Given the description of an element on the screen output the (x, y) to click on. 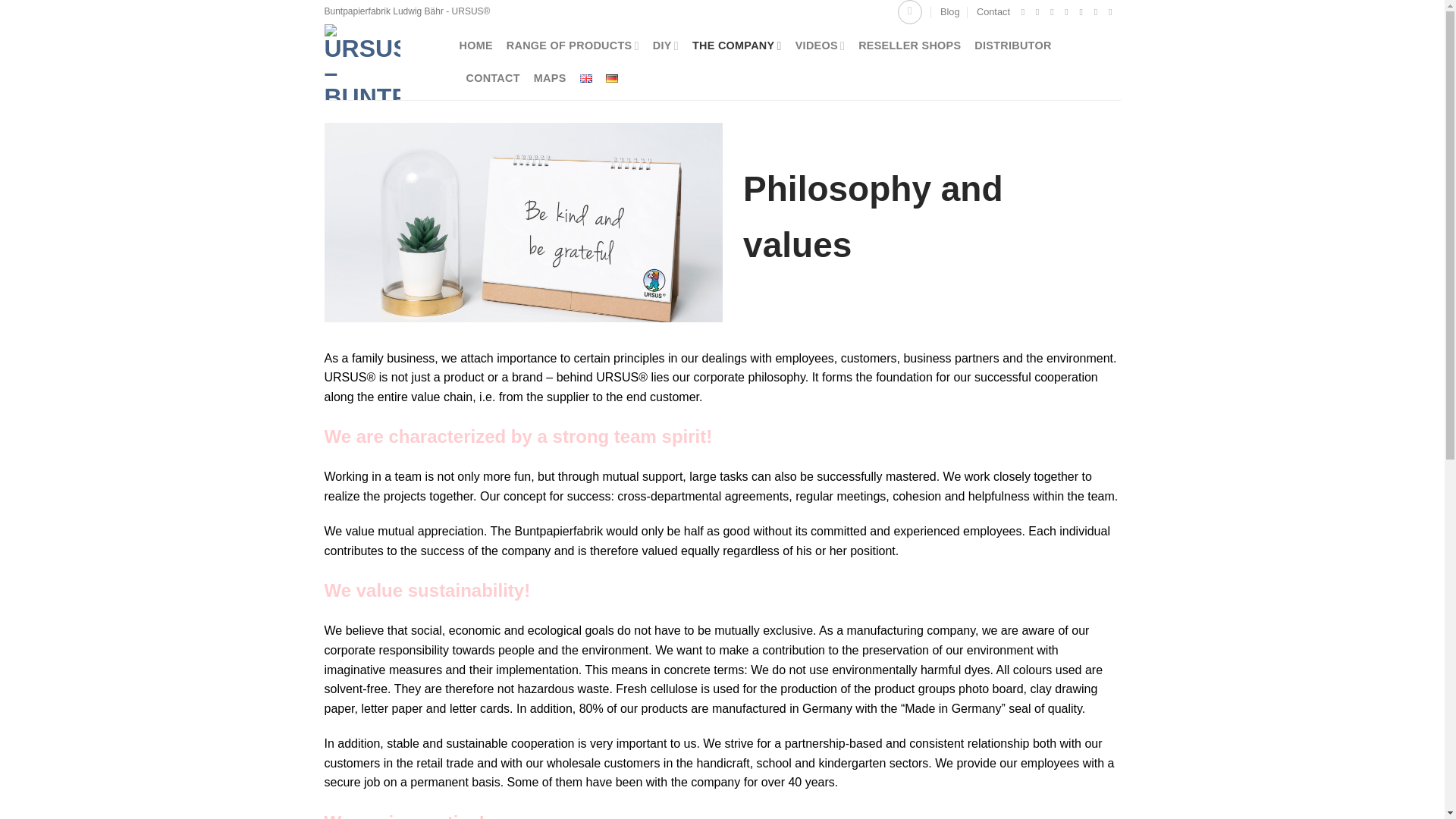
Contact (993, 11)
HOME (476, 45)
RANGE OF PRODUCTS (572, 45)
